Given the description of an element on the screen output the (x, y) to click on. 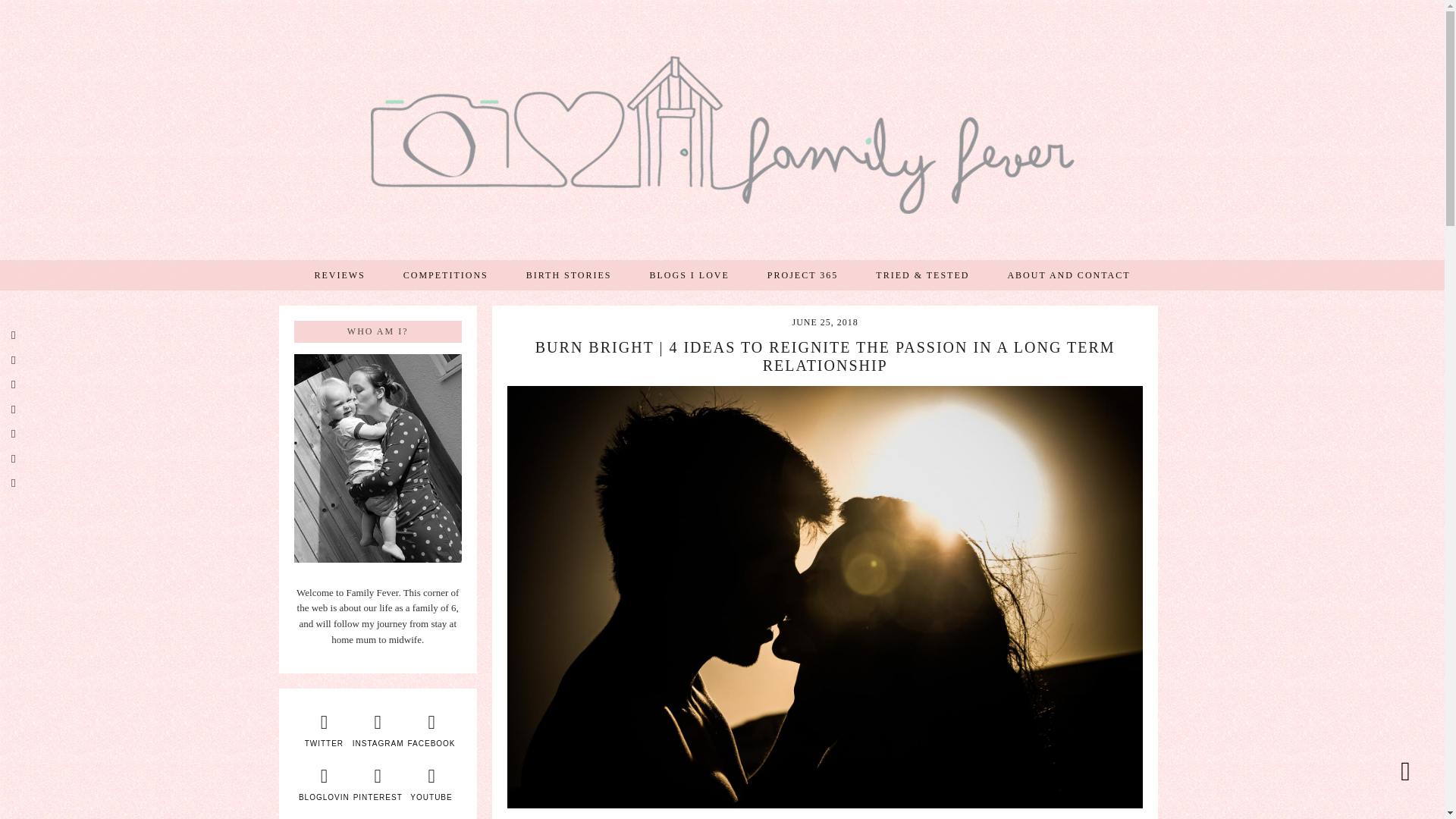
COMPETITIONS (445, 275)
BIRTH STORIES (568, 275)
REVIEWS (339, 275)
BLOGS I LOVE (689, 275)
PROJECT 365 (802, 275)
ABOUT AND CONTACT (1068, 275)
